Given the description of an element on the screen output the (x, y) to click on. 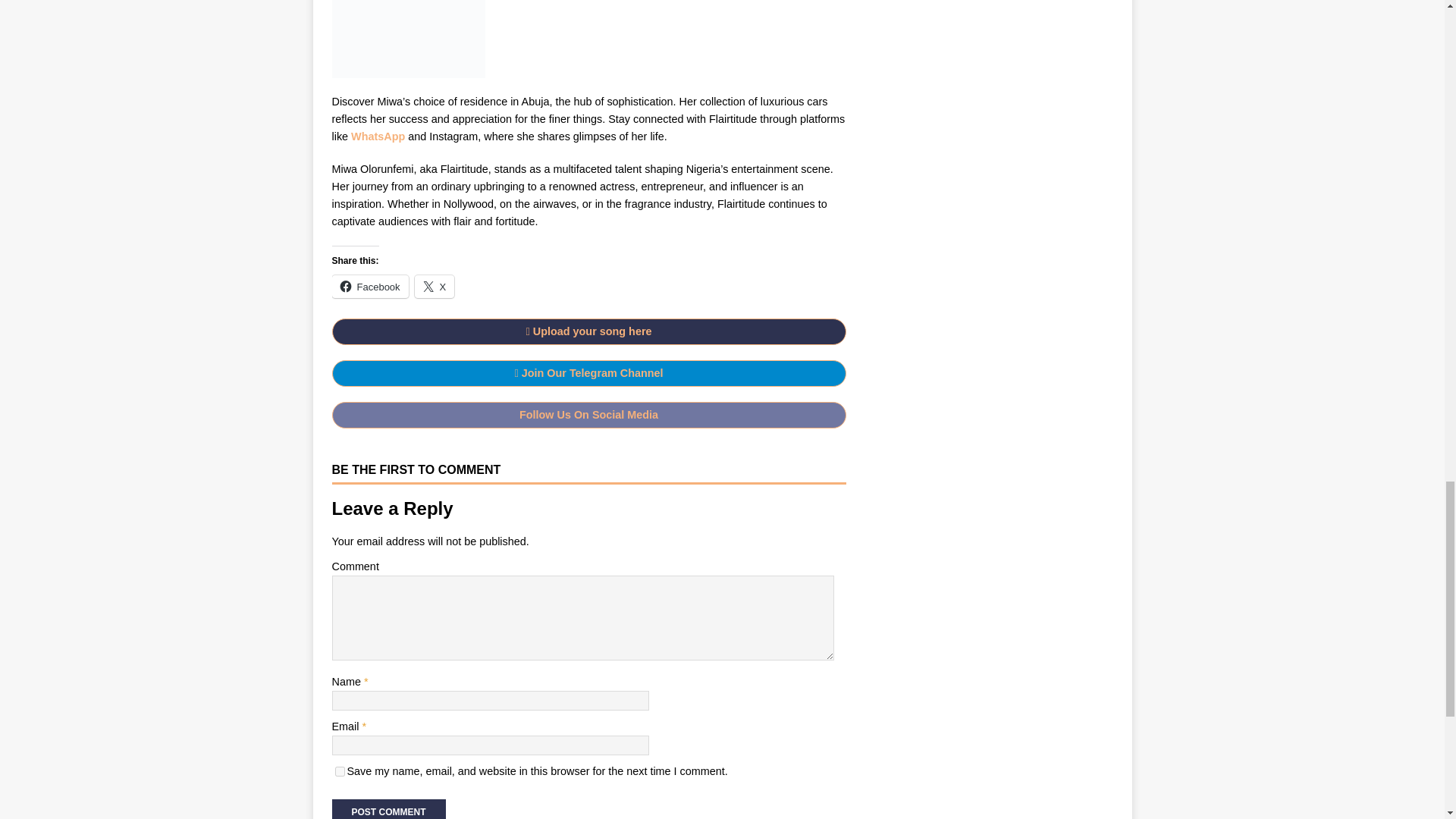
yes (339, 771)
Click to share on Facebook (370, 286)
Upload your song here (588, 331)
Post Comment (388, 809)
Join Our Telegram Channel (587, 372)
WhatsApp (377, 136)
Post Comment (388, 809)
Click to share on X (434, 286)
Follow Us On Social Media (588, 414)
